Given the description of an element on the screen output the (x, y) to click on. 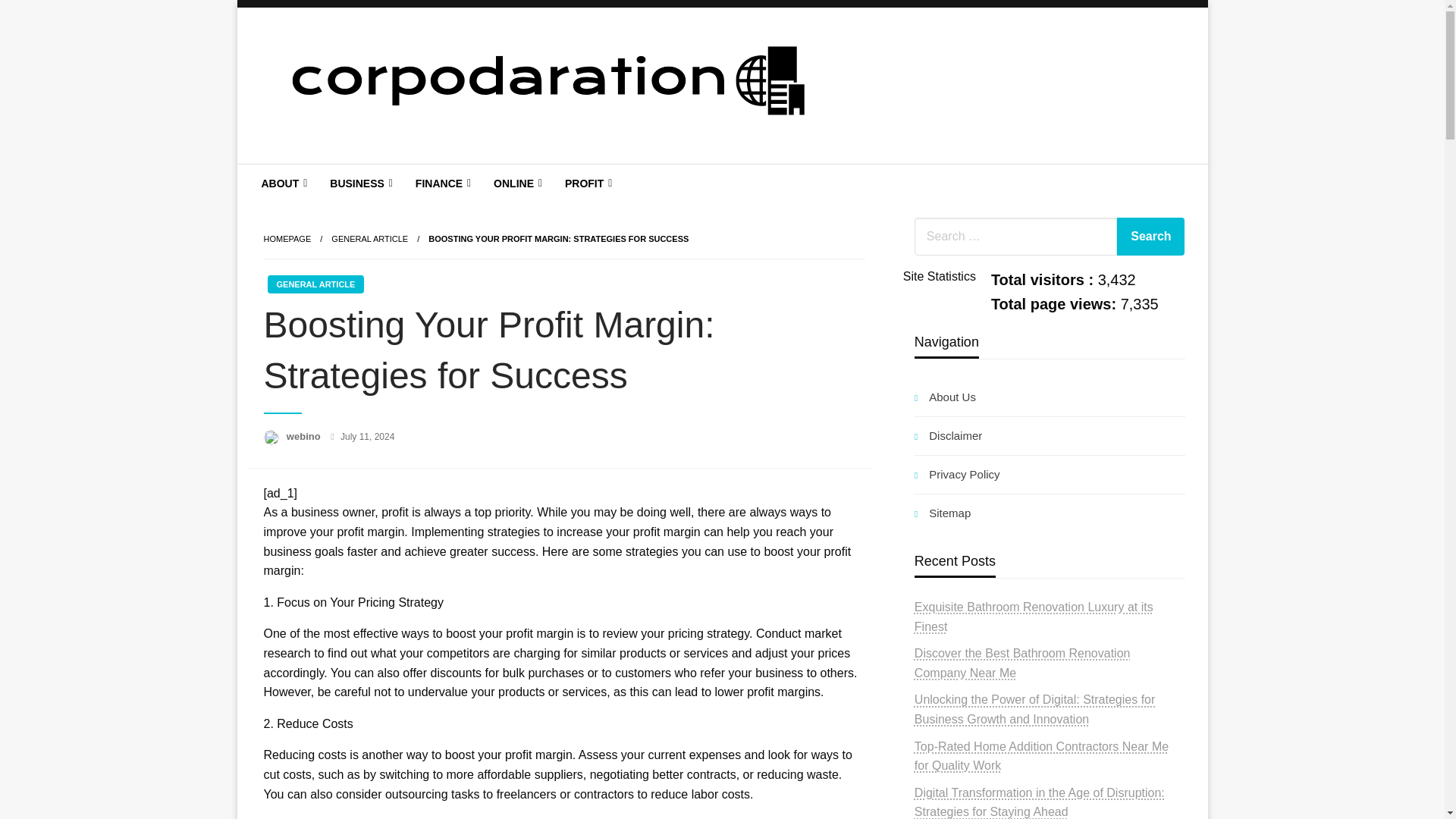
ABOUT (282, 183)
GENERAL ARTICLE (369, 238)
FINANCE (441, 183)
HOMEPAGE (287, 238)
GENERAL ARTICLE (315, 284)
Boosting Your Profit Margin: Strategies for Success (558, 238)
BUSINESS (360, 183)
ONLINE (515, 183)
Search (1150, 236)
